Given the description of an element on the screen output the (x, y) to click on. 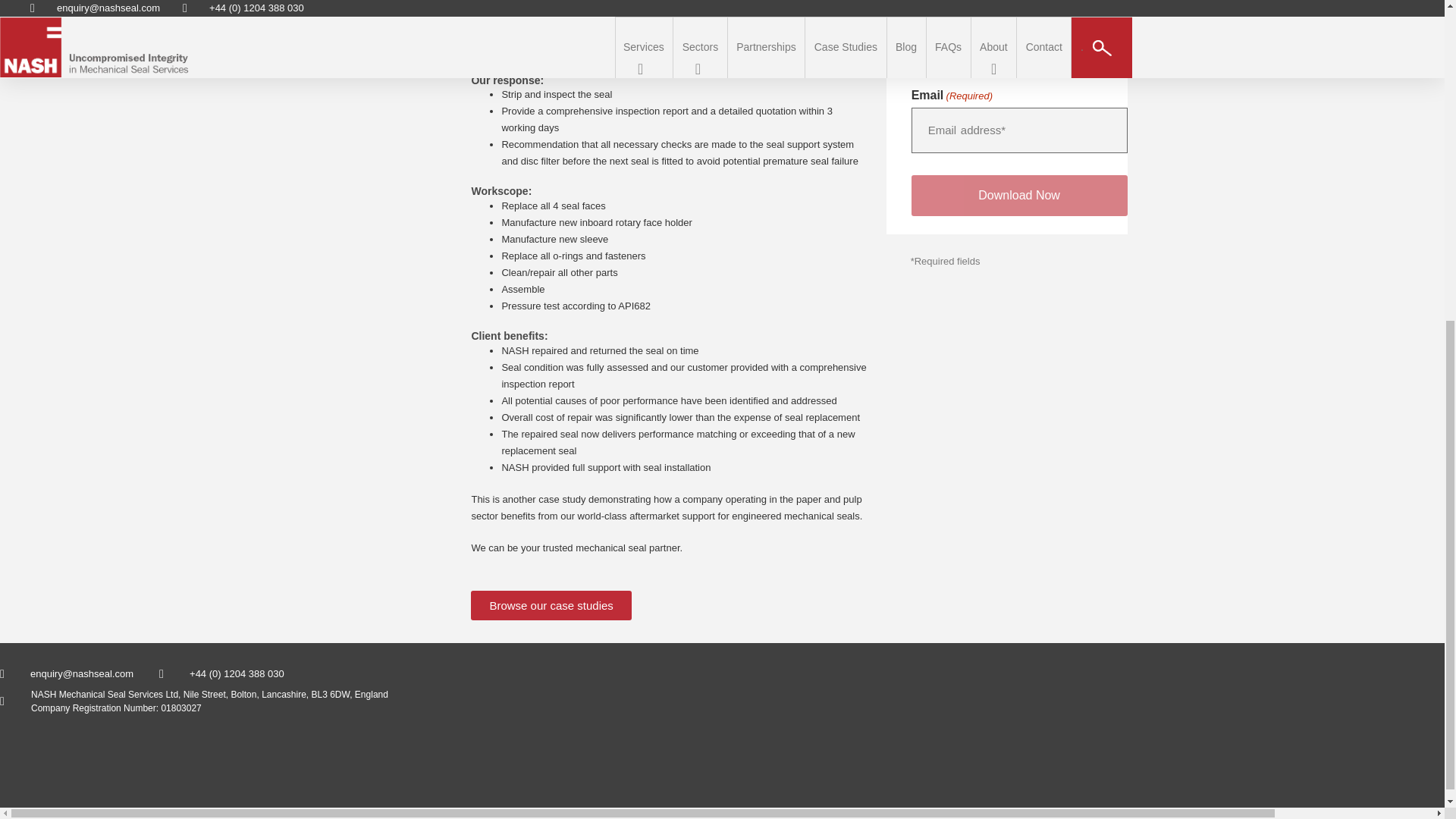
Download Now (1018, 195)
